Given the description of an element on the screen output the (x, y) to click on. 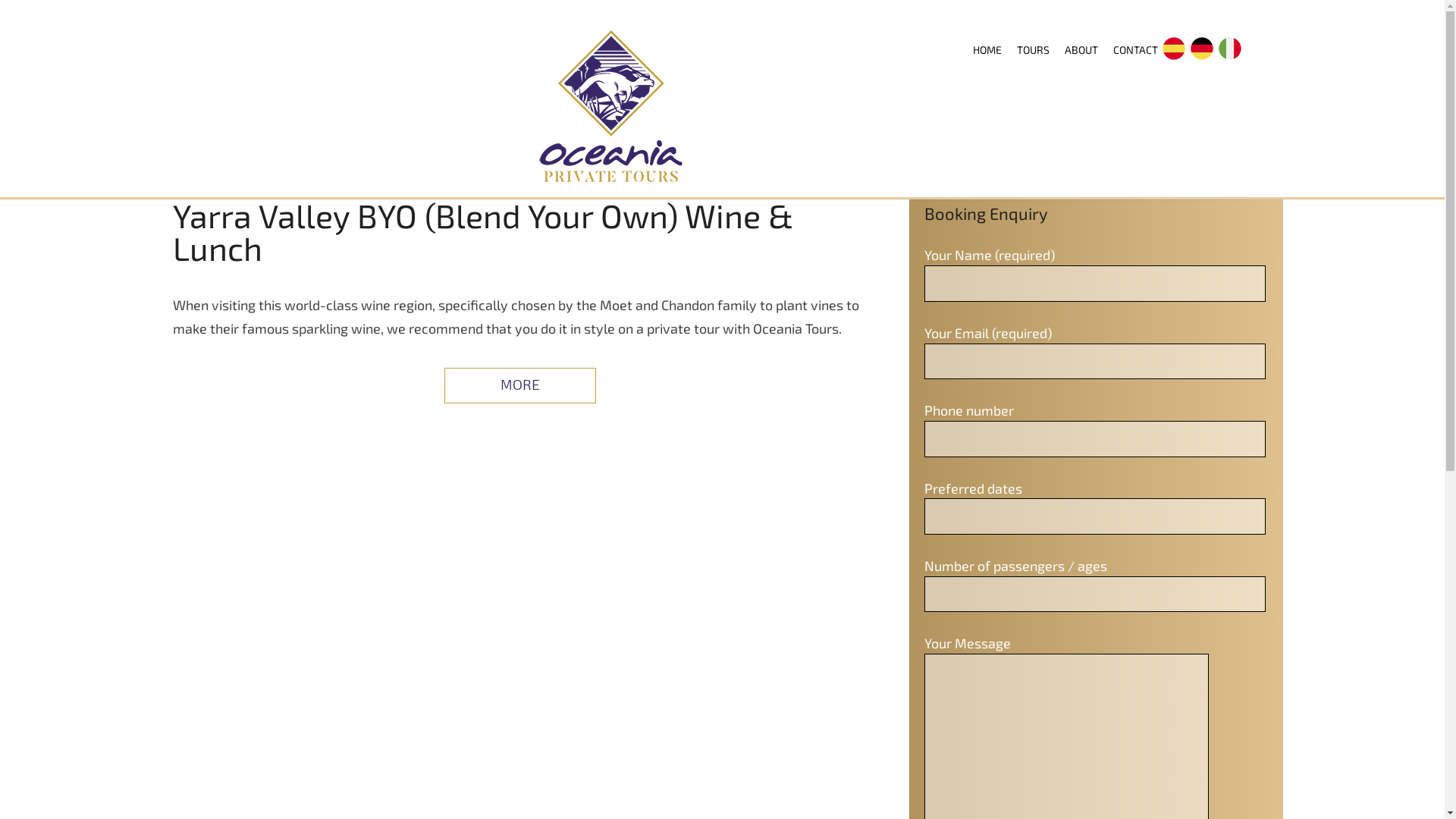
ES Element type: text (1173, 63)
MORE Element type: text (520, 385)
TOURS Element type: text (1024, 49)
OCEANIA PRIVATE TOURS Element type: text (611, 106)
IT Element type: text (1229, 63)
ABOUT Element type: text (1073, 49)
CONTACT Element type: text (1127, 49)
HOME Element type: text (979, 49)
DE Element type: text (1201, 63)
